Given the description of an element on the screen output the (x, y) to click on. 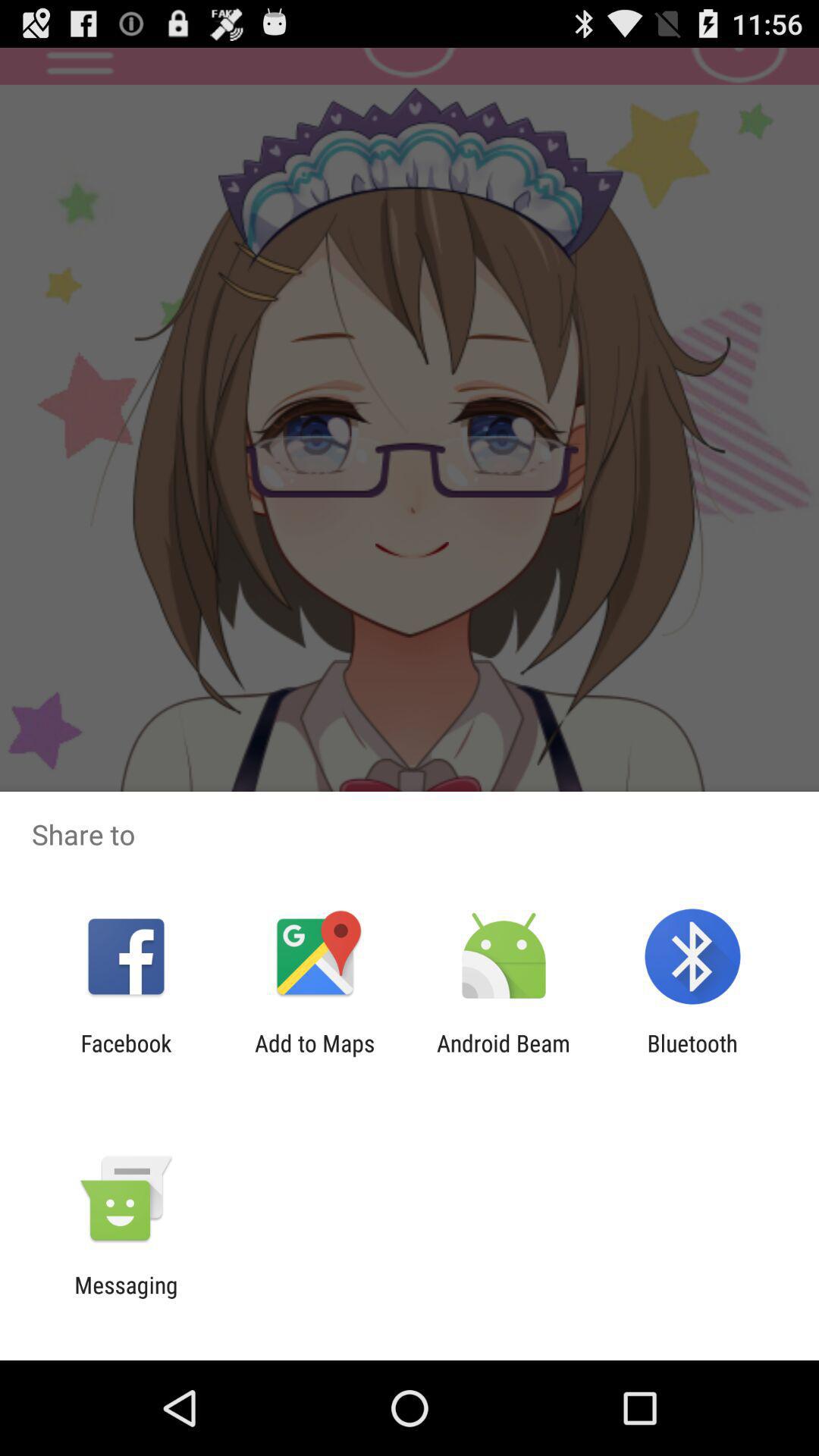
turn off the android beam icon (503, 1056)
